Given the description of an element on the screen output the (x, y) to click on. 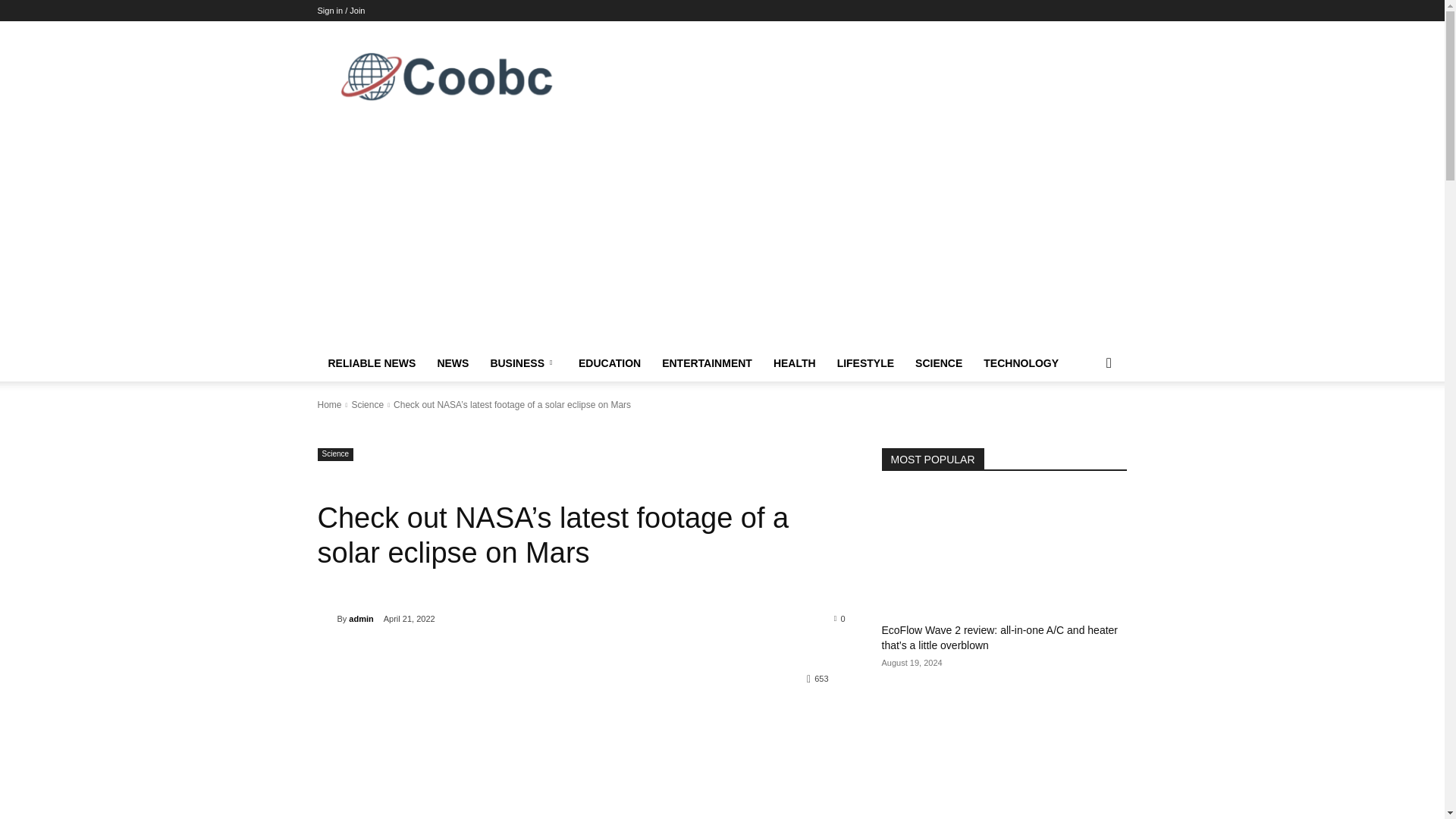
View all posts in Science (367, 404)
admin (326, 618)
